Given the description of an element on the screen output the (x, y) to click on. 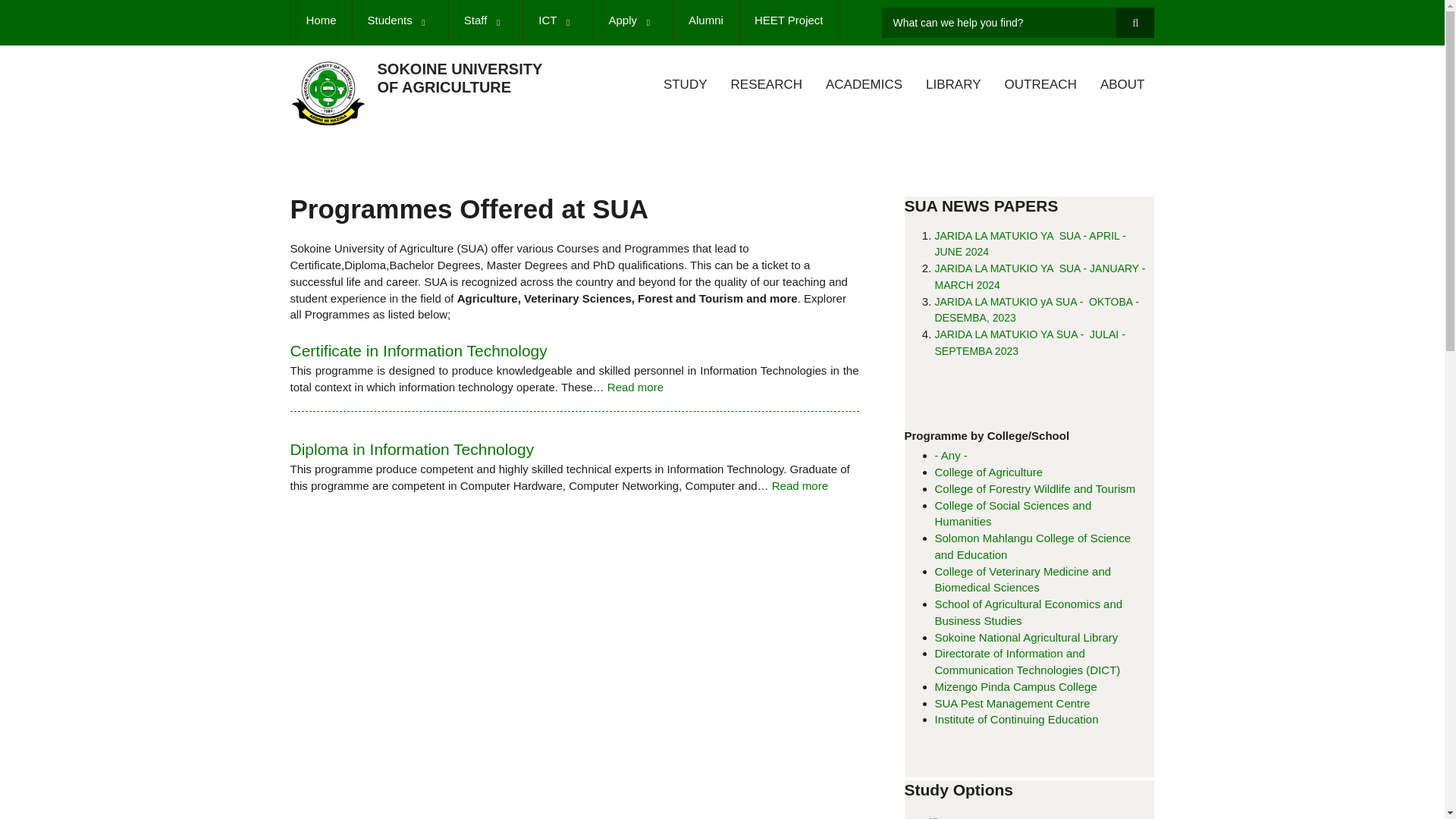
Staff (485, 22)
Home (319, 22)
Students (400, 22)
Search (1135, 22)
ICT (557, 22)
Home (327, 92)
Enter the terms you wish to search for. (1017, 22)
Home (459, 77)
Search (1135, 22)
Apply (632, 22)
